Given the description of an element on the screen output the (x, y) to click on. 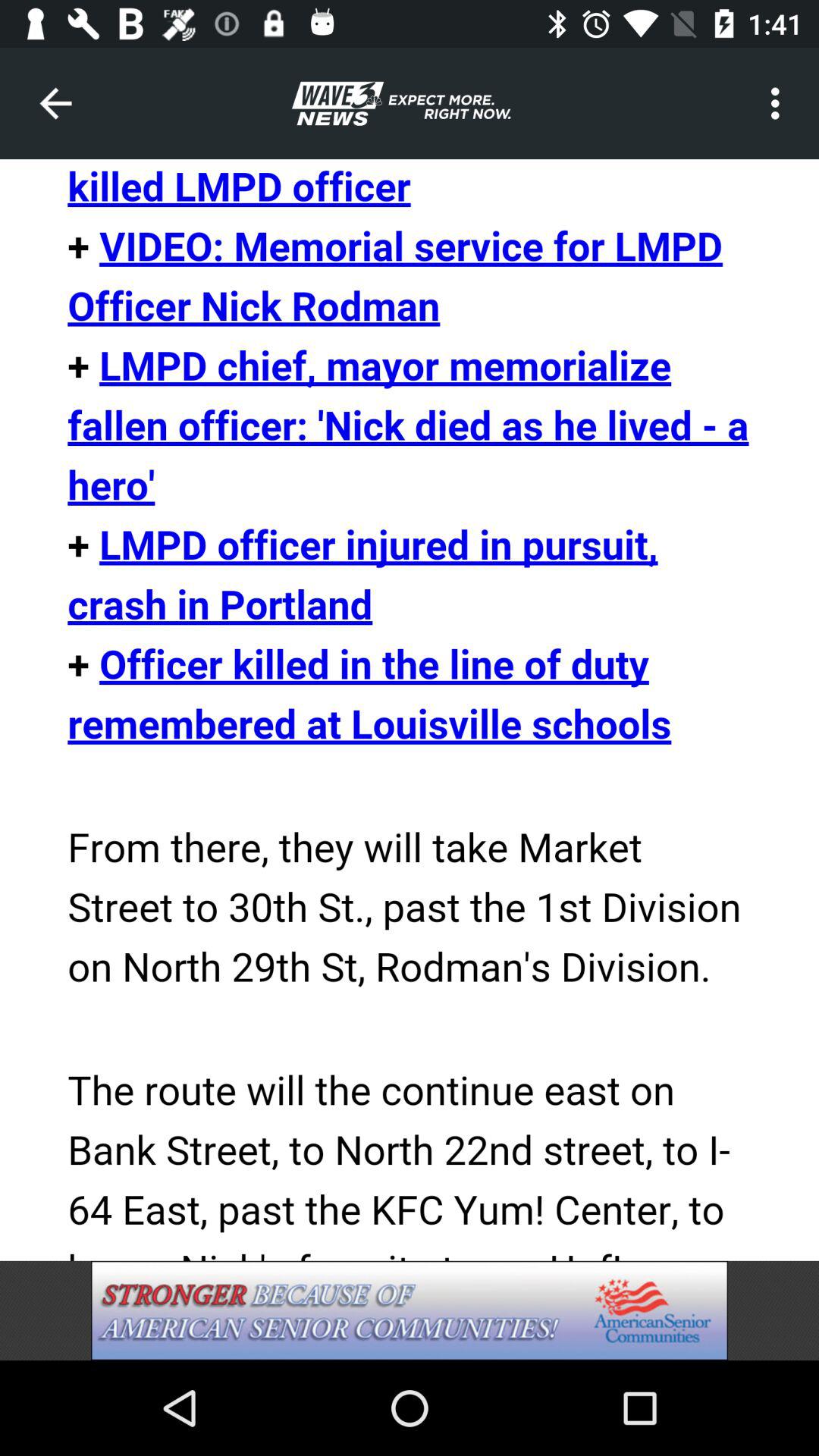
open advertisement (409, 1310)
